Given the description of an element on the screen output the (x, y) to click on. 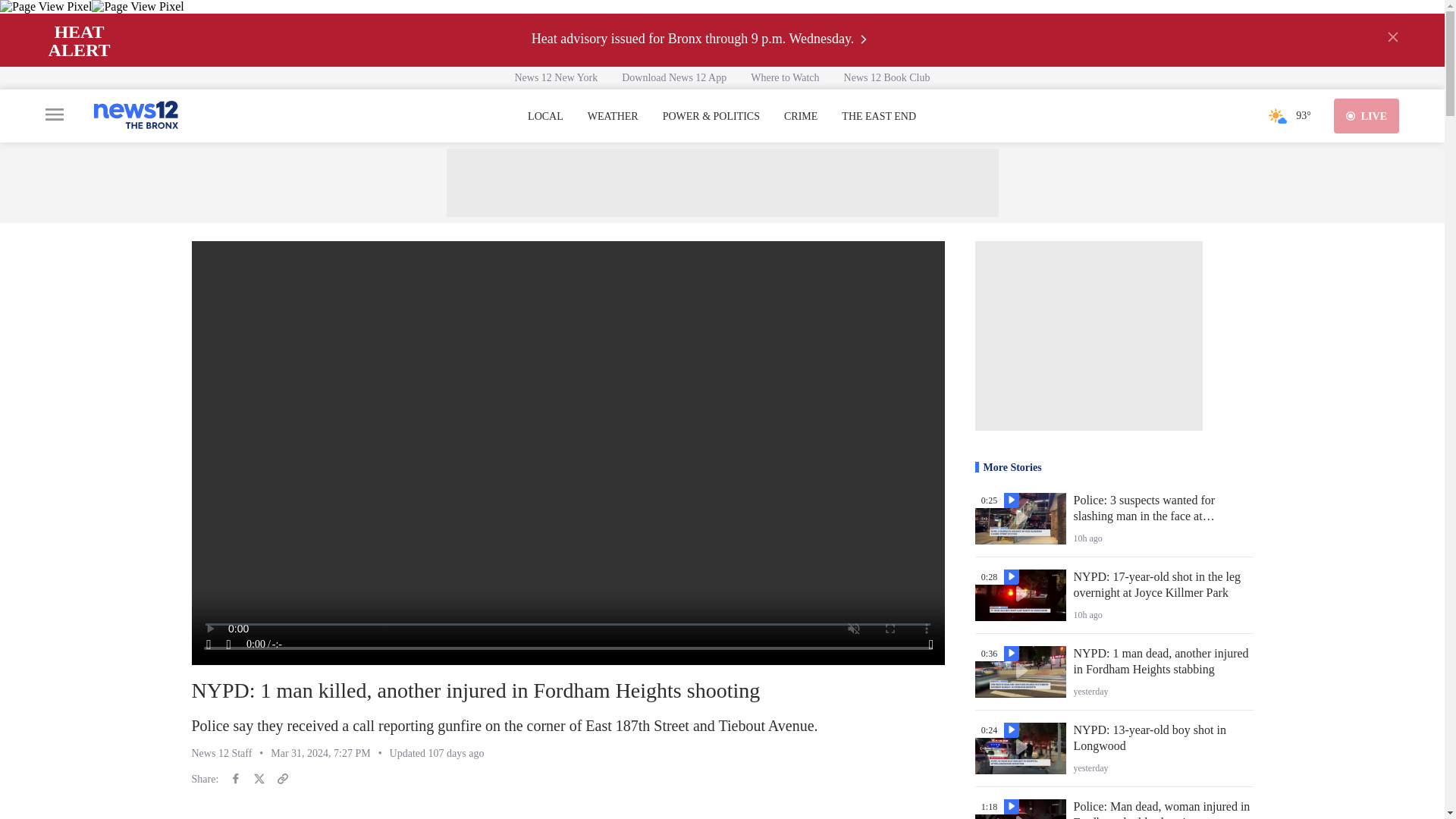
Where to Watch (784, 78)
News 12 Book Club (886, 78)
News 12 New York (556, 78)
Play (208, 644)
LIVE (1366, 115)
Fullscreen (931, 644)
LOCAL (545, 116)
WEATHER (613, 116)
Fair or Mostly Sunny (1277, 115)
CRIME (800, 116)
Download News 12 App (673, 78)
Unmute (229, 644)
THE EAST END (878, 116)
